Given the description of an element on the screen output the (x, y) to click on. 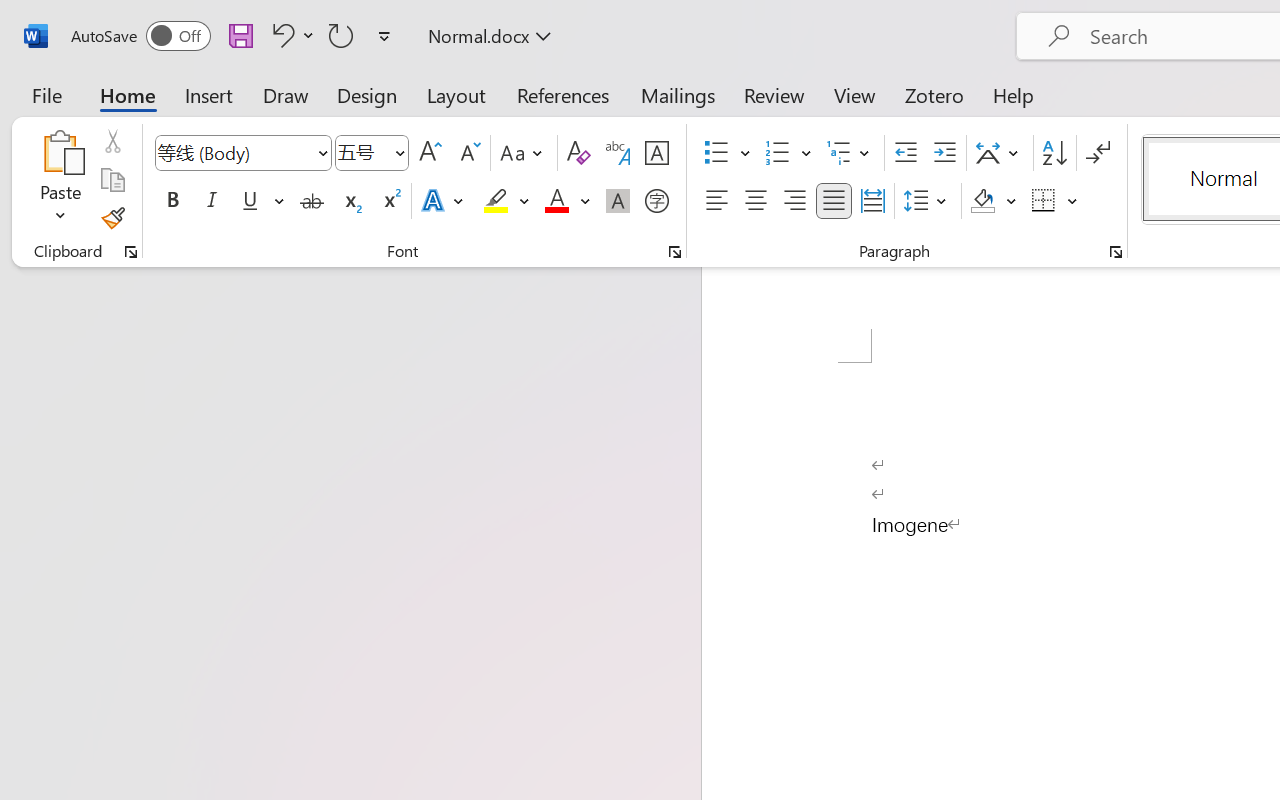
Show/Hide Editing Marks (1098, 153)
Decrease Indent (906, 153)
Shrink Font (468, 153)
Enclose Characters... (656, 201)
Strikethrough (312, 201)
Cut (112, 141)
Character Shading (618, 201)
Font Color RGB(255, 0, 0) (556, 201)
Open (399, 152)
